Given the description of an element on the screen output the (x, y) to click on. 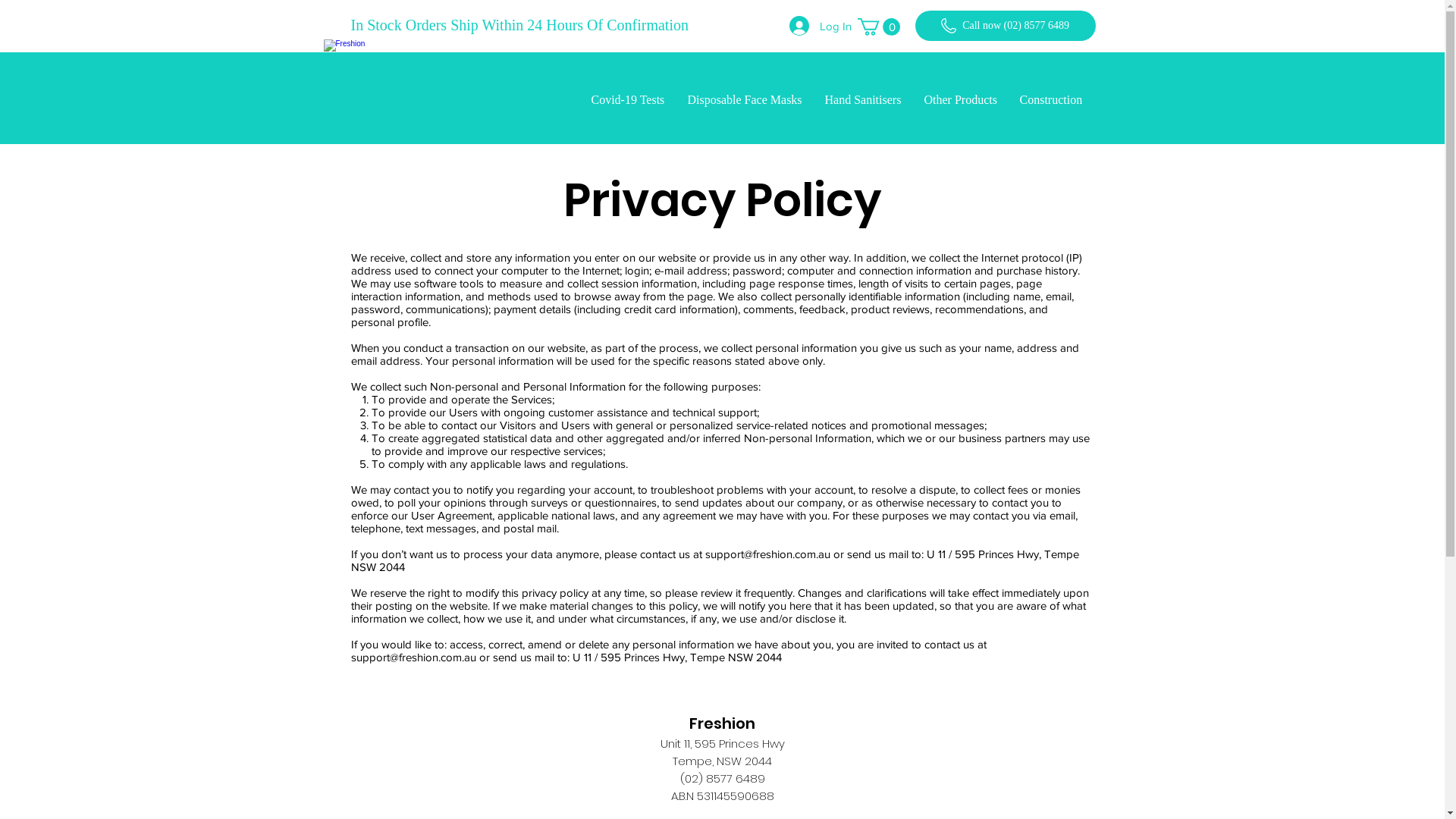
support@freshion.com.au Element type: text (767, 553)
Log In Element type: text (809, 25)
Hand Sanitisers Element type: text (862, 99)
support@freshion.com.au Element type: text (412, 656)
Covid-19 Tests Element type: text (627, 99)
Construction Element type: text (1051, 99)
Other Products Element type: text (960, 99)
Disposable Face Masks Element type: text (744, 99)
Call now (02) 8577 6489 Element type: text (1004, 25)
0 Element type: text (877, 26)
